Given the description of an element on the screen output the (x, y) to click on. 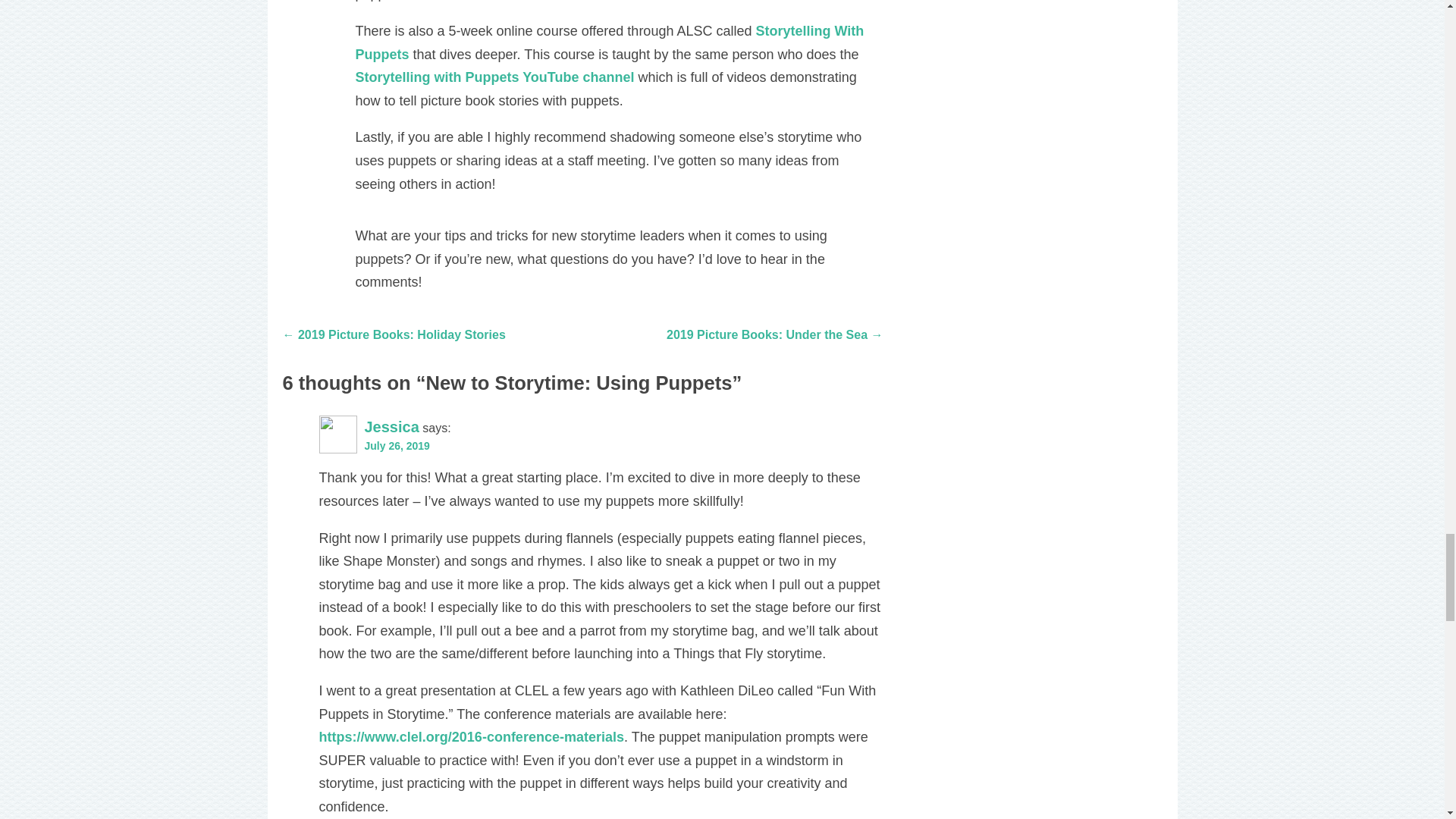
Jessica (391, 426)
July 26, 2019 (396, 445)
Storytelling with Puppets YouTube channel (494, 77)
Storytelling With Puppets (609, 42)
